Given the description of an element on the screen output the (x, y) to click on. 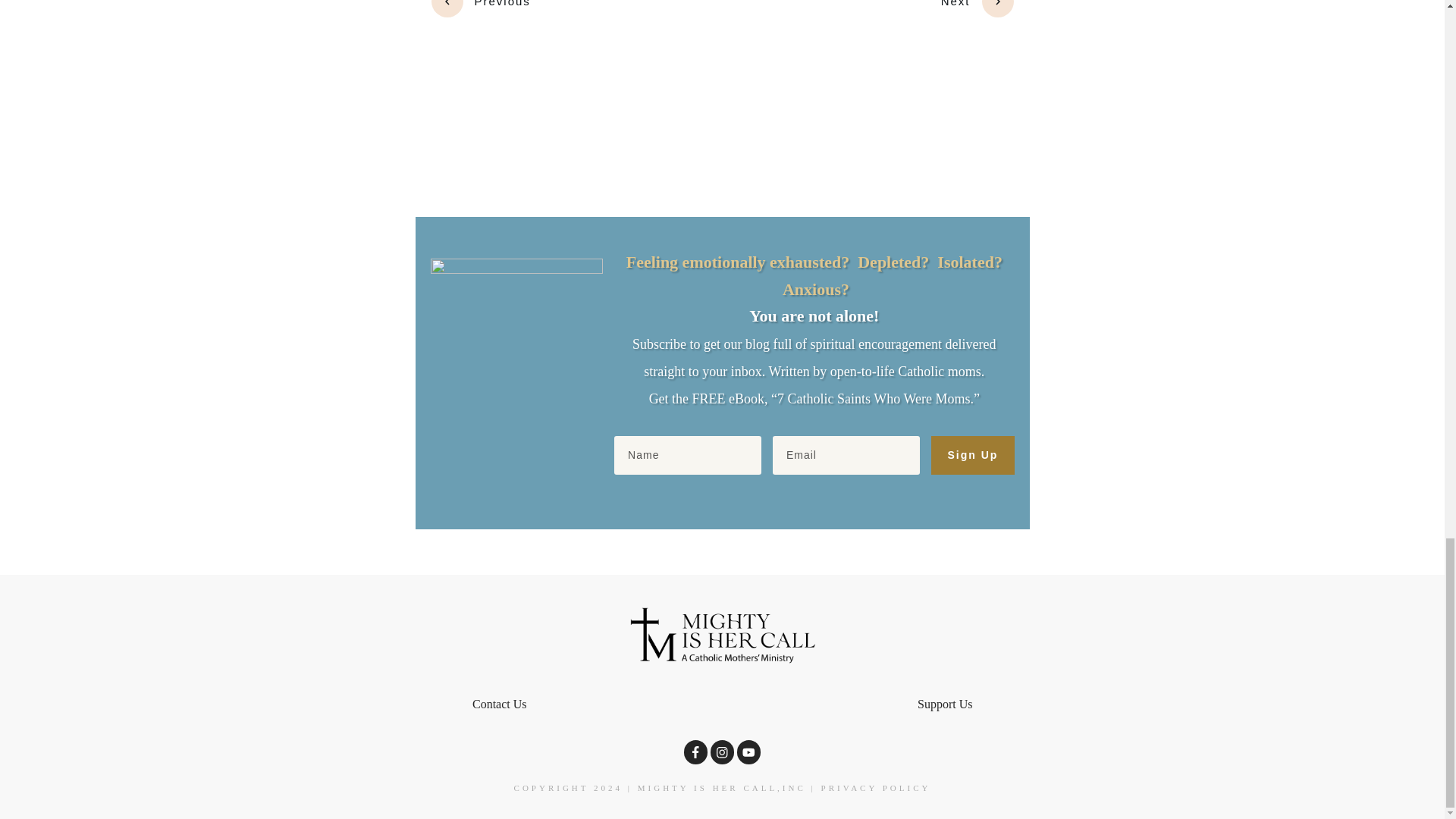
Next (976, 8)
PRIVACY POLICY (876, 787)
Sign Up (972, 455)
Support Us (944, 703)
Previous (479, 8)
Contact Us (499, 703)
